Given the description of an element on the screen output the (x, y) to click on. 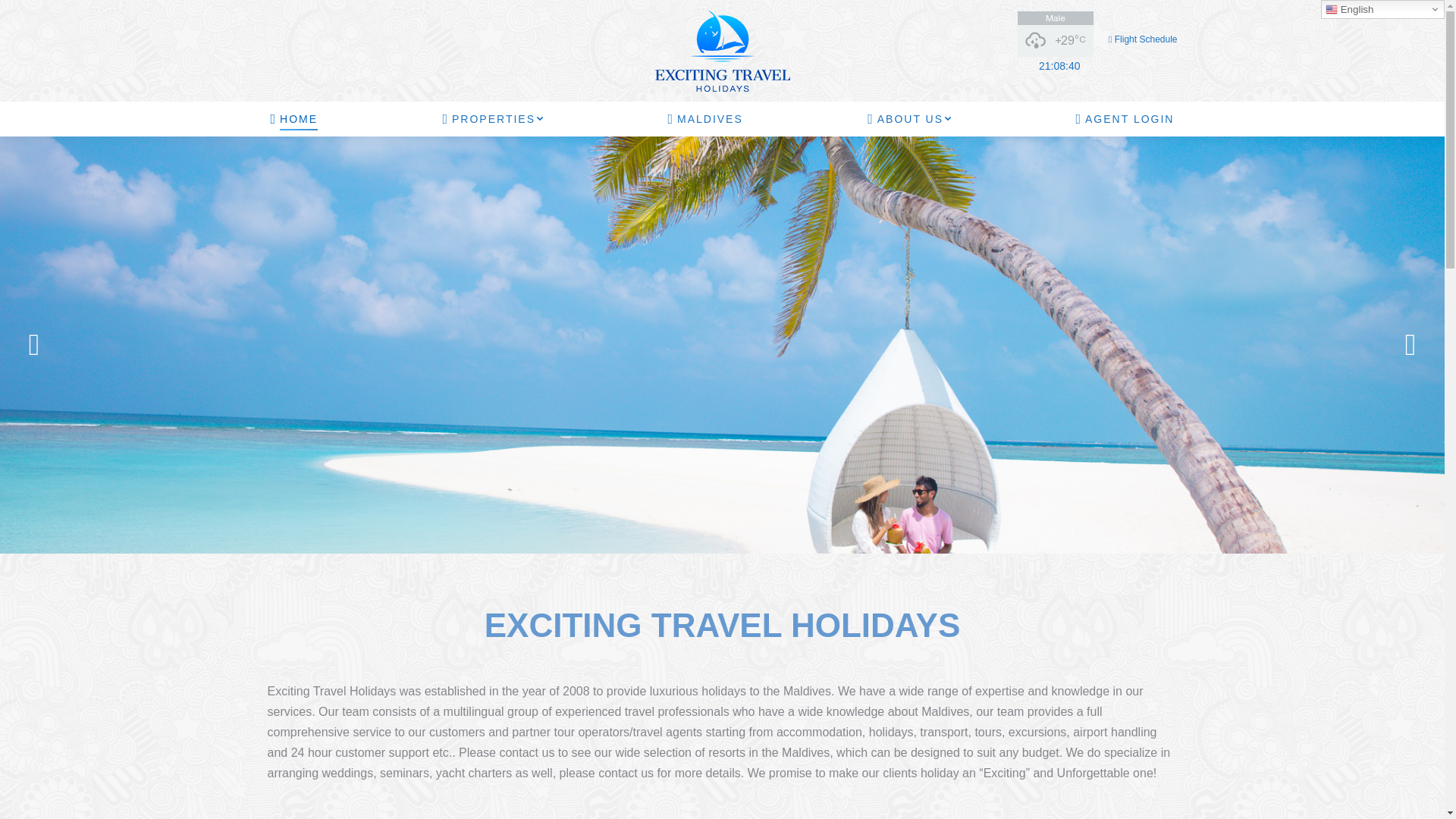
ABOUT US (908, 118)
HOME (293, 118)
 Flight Schedule (1142, 39)
AGENT LOGIN (1123, 118)
MALDIVES (704, 118)
PROPERTIES (492, 118)
